Given the description of an element on the screen output the (x, y) to click on. 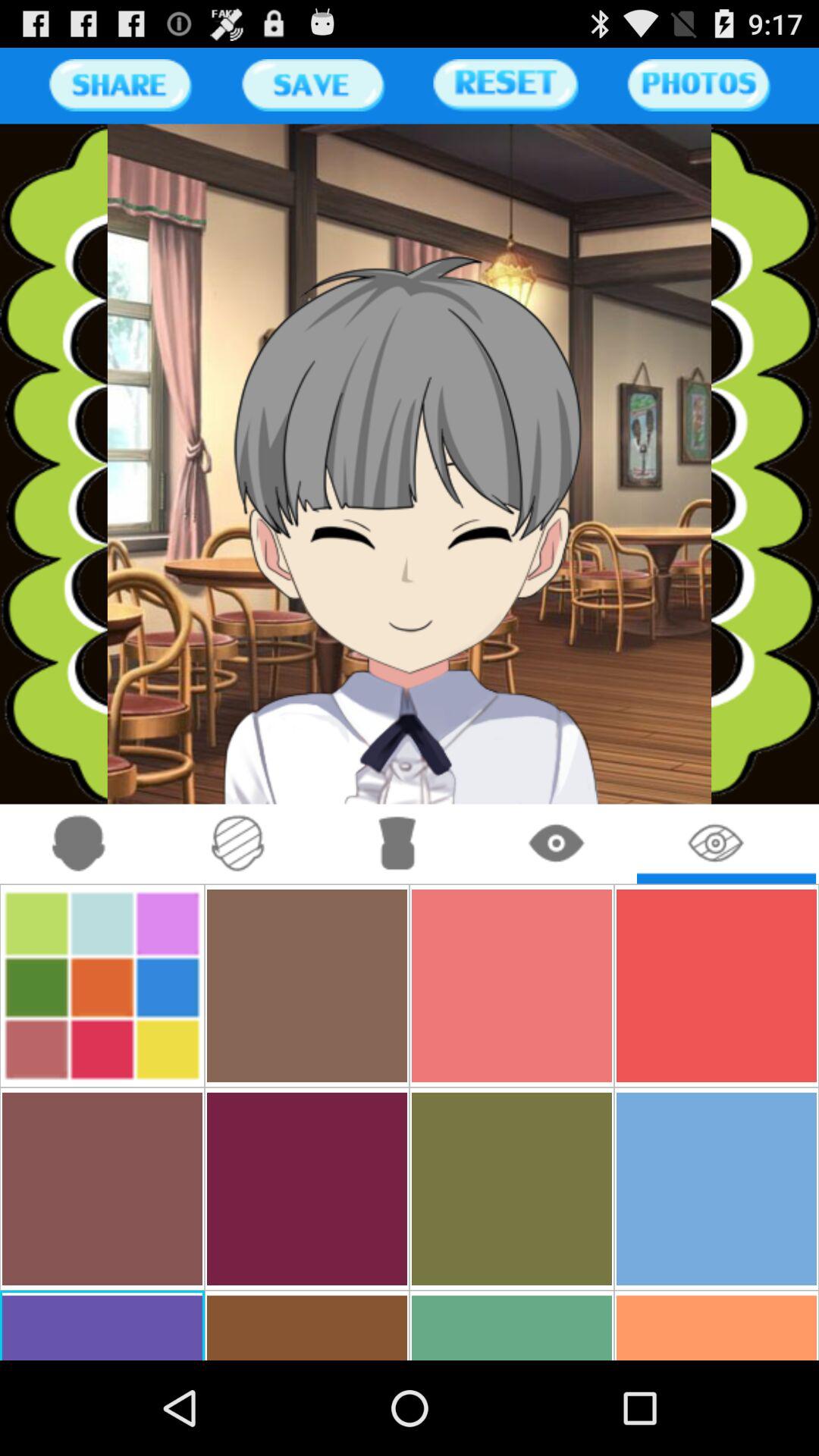
clothing options (397, 843)
